Given the description of an element on the screen output the (x, y) to click on. 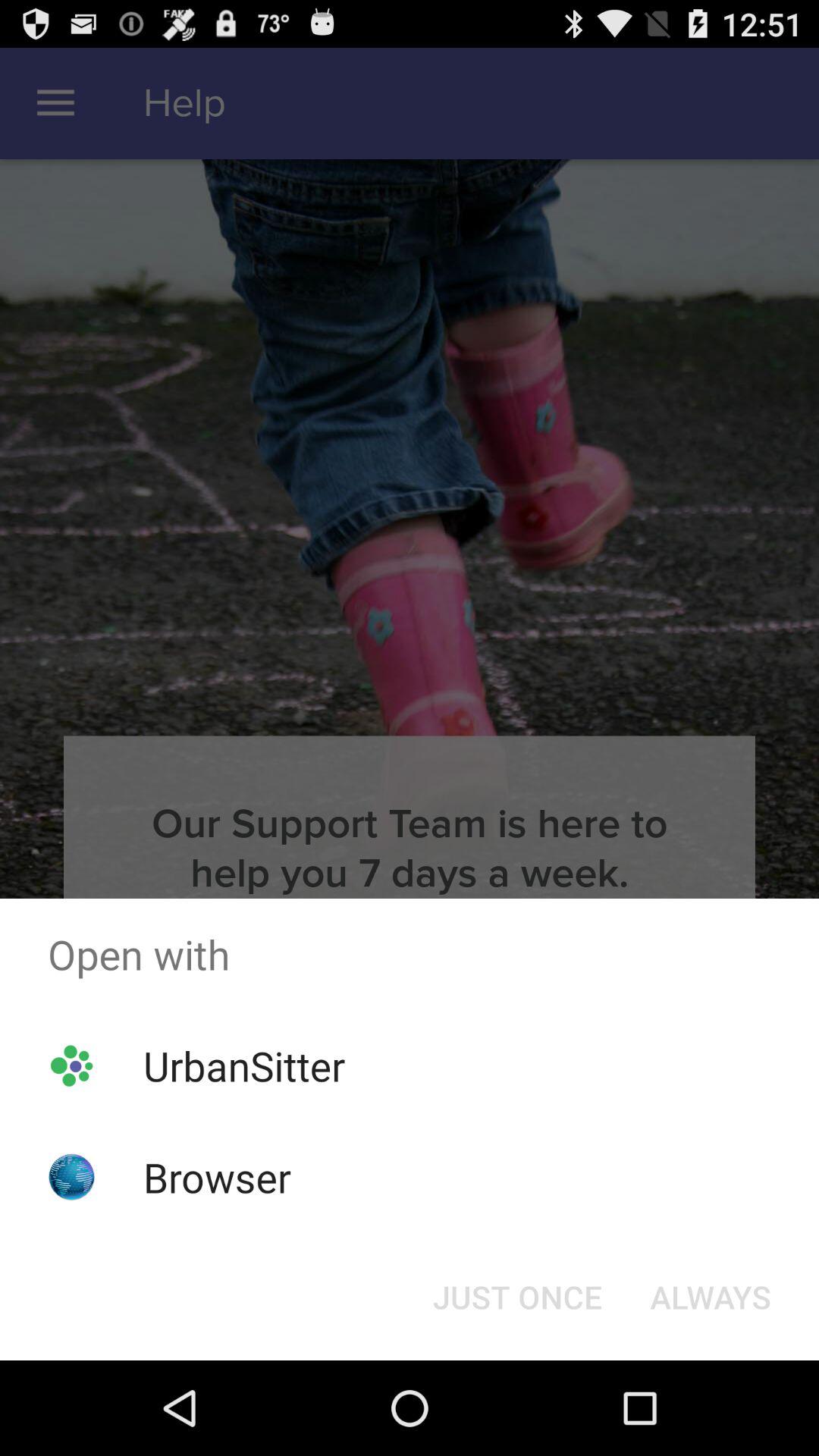
open the item next to just once item (710, 1296)
